Given the description of an element on the screen output the (x, y) to click on. 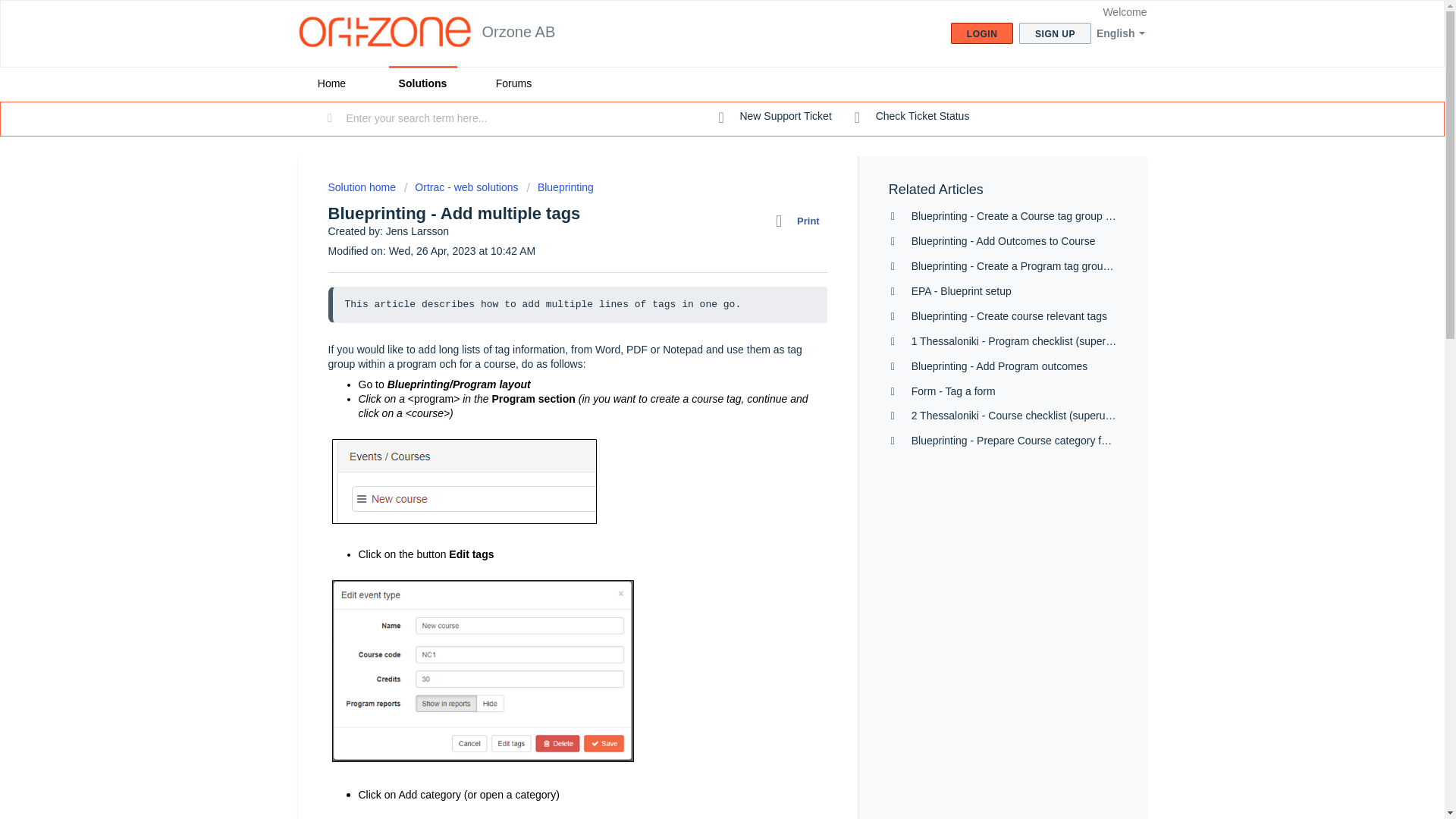
Solution home (362, 186)
Solutions (422, 83)
Blueprinting - Prepare Course category for mapping (1032, 440)
Blueprinting - Create a Program tag group with tags (1032, 265)
Blueprinting - Create course relevant tags (1008, 316)
Check Ticket Status (911, 116)
LOGIN (981, 33)
Check ticket status (911, 116)
Home (331, 83)
Forums (513, 83)
